Given the description of an element on the screen output the (x, y) to click on. 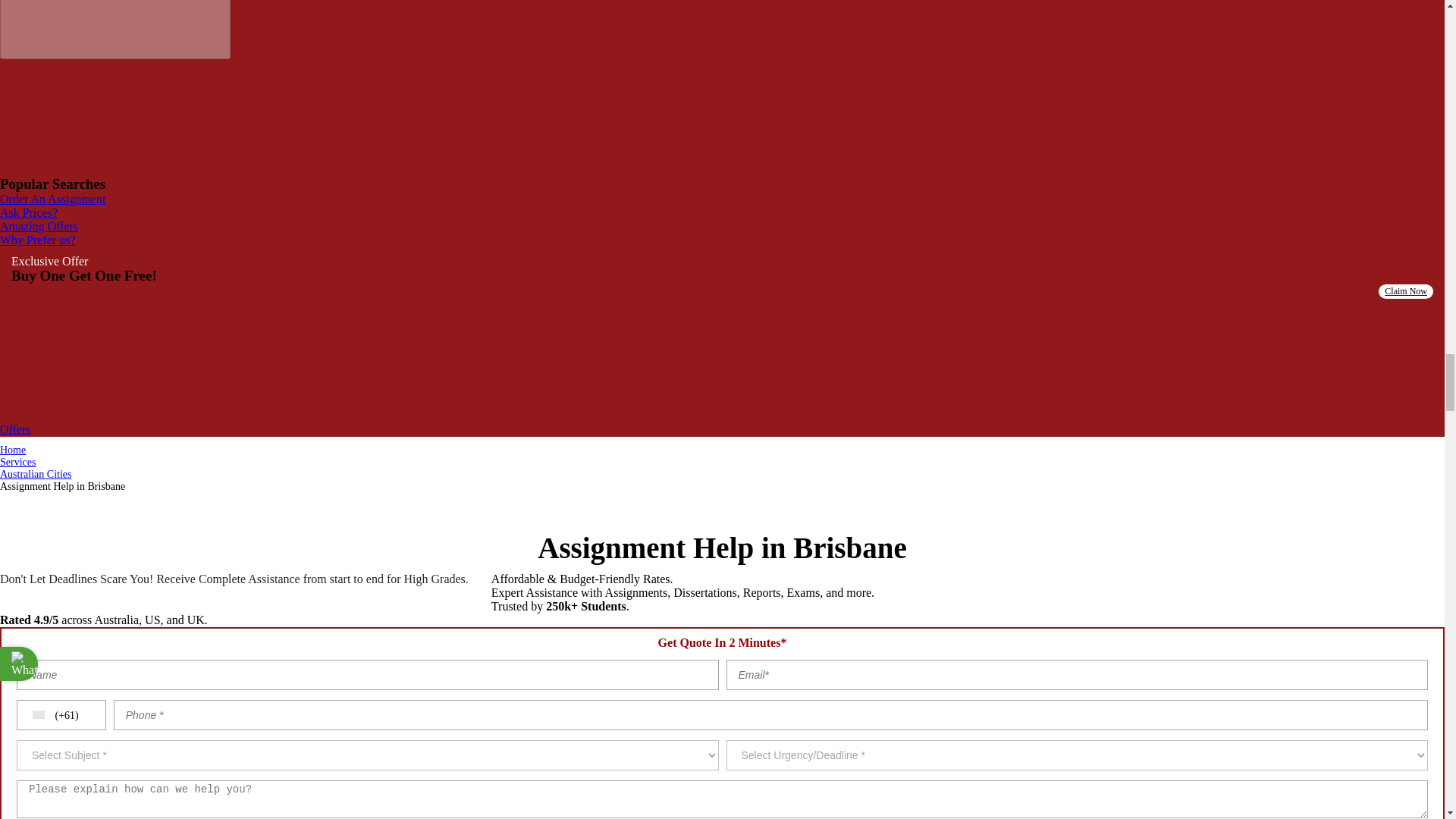
Order Now (113, 415)
